Given the description of an element on the screen output the (x, y) to click on. 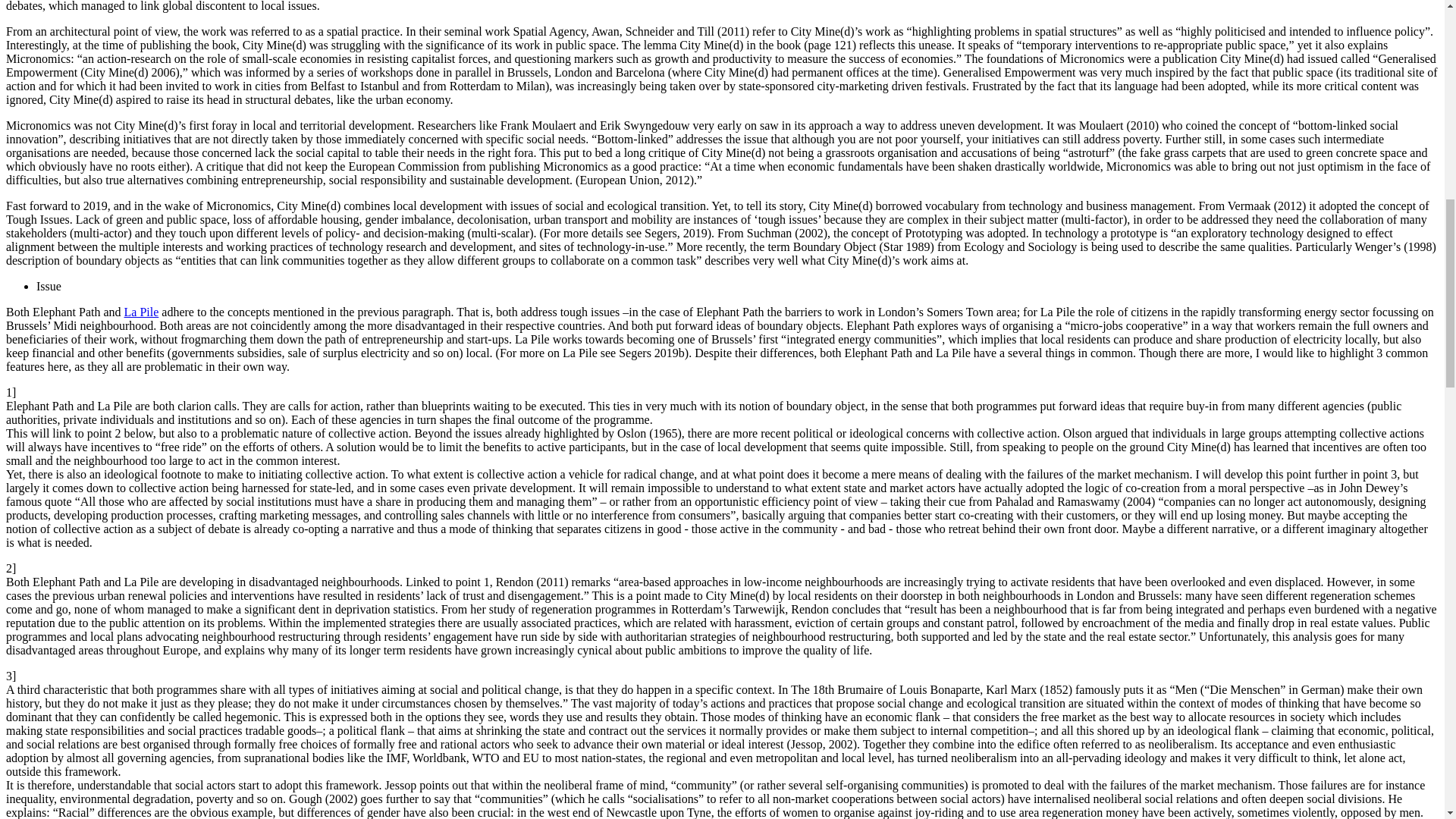
La Pile (140, 311)
